Given the description of an element on the screen output the (x, y) to click on. 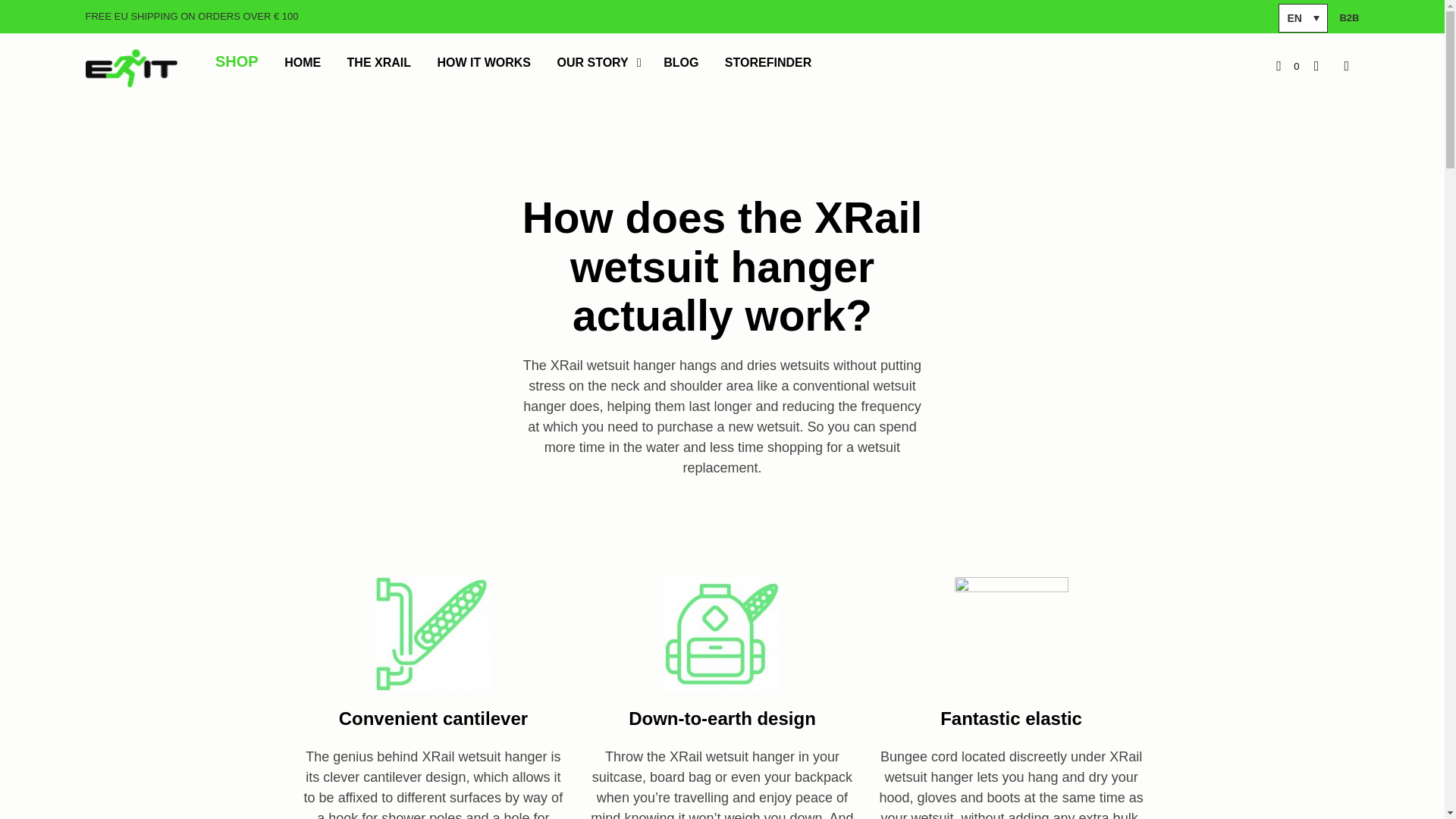
BLOG (681, 63)
OUR STORY (593, 63)
0 (1287, 66)
SHOP (236, 68)
EN (1302, 18)
THE XRAIL (379, 63)
HOW IT WORKS (484, 63)
B2B (1348, 17)
HOME (302, 63)
STOREFINDER (767, 63)
